Given the description of an element on the screen output the (x, y) to click on. 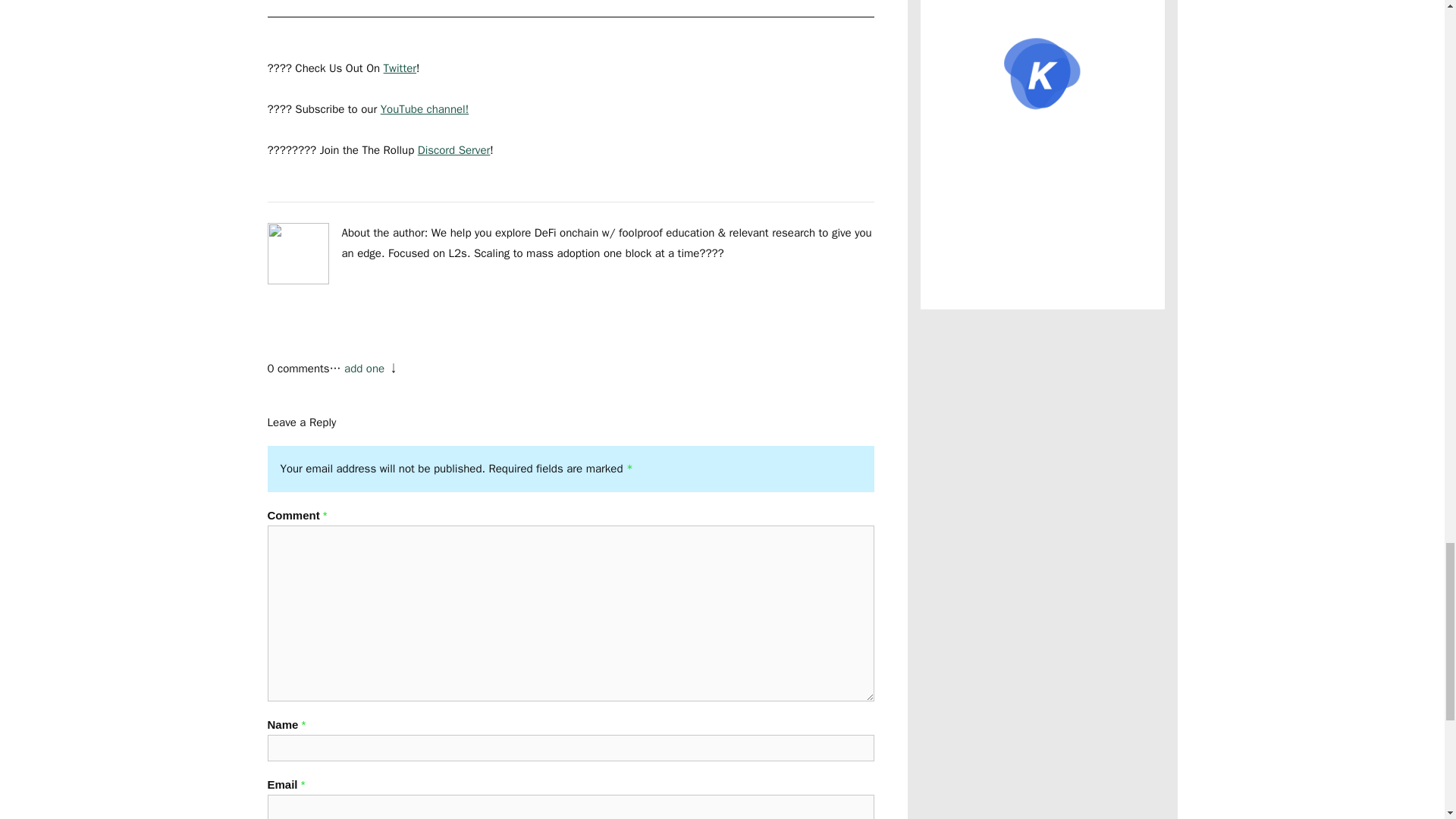
YouTube channel! (424, 109)
add one (363, 368)
Twitter (400, 68)
Discord Server (453, 150)
